Given the description of an element on the screen output the (x, y) to click on. 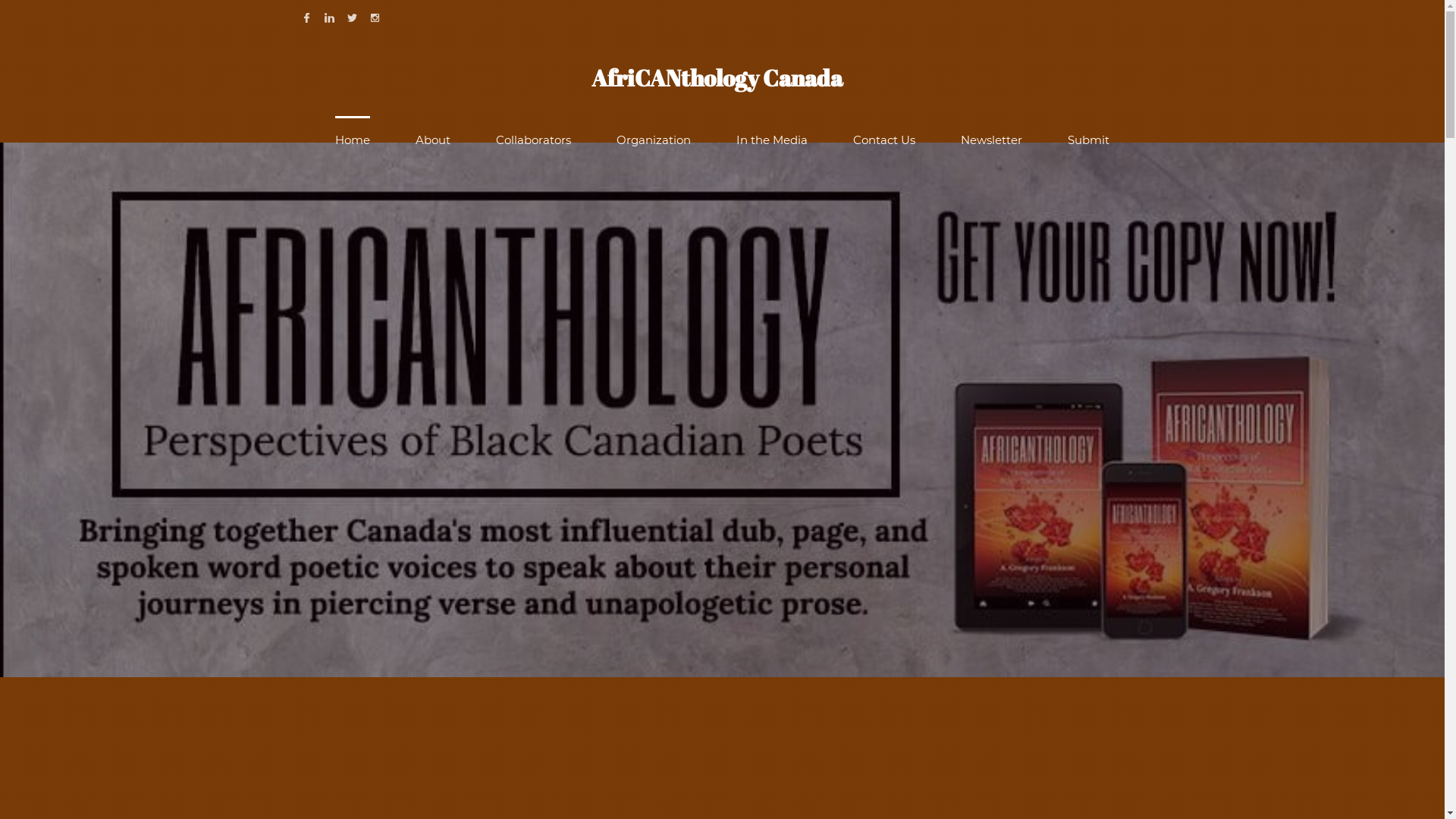
Submit Element type: text (1088, 139)
In the Media Element type: text (771, 139)
Home Element type: text (352, 139)
Newsletter Element type: text (991, 139)
About Element type: text (432, 139)
Organization Element type: text (653, 139)
Collaborators Element type: text (533, 139)
Contact Us Element type: text (884, 139)
